Given the description of an element on the screen output the (x, y) to click on. 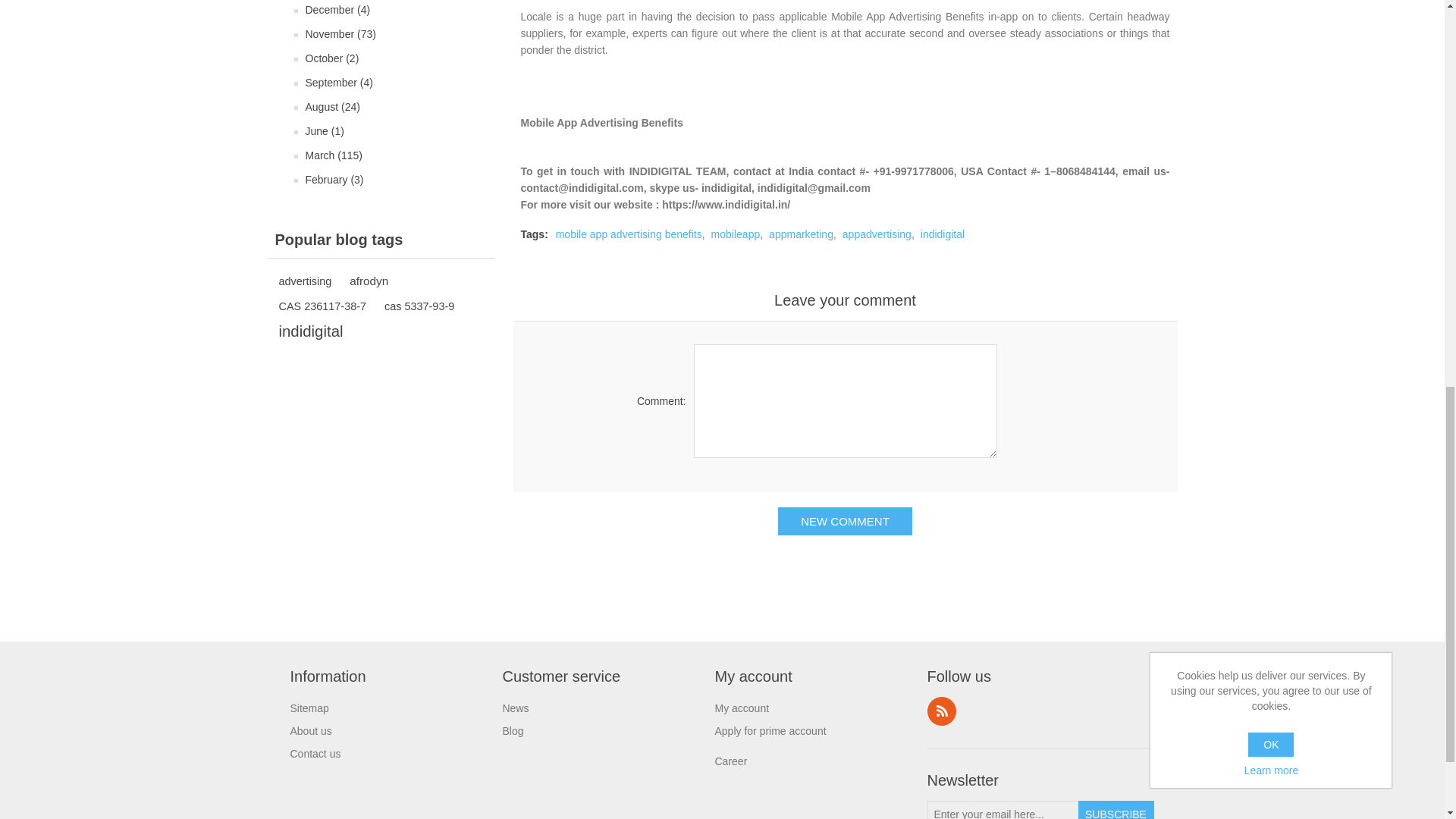
appadvertising (877, 234)
advertising (305, 281)
New comment (844, 520)
CAS 236117-38-7 (322, 305)
Contact us (314, 753)
New comment (844, 520)
cas 5337-93-9 (419, 305)
indidigital (311, 331)
Mobile App Advertising Benefits (600, 122)
mobile app advertising benefits (628, 234)
